Given the description of an element on the screen output the (x, y) to click on. 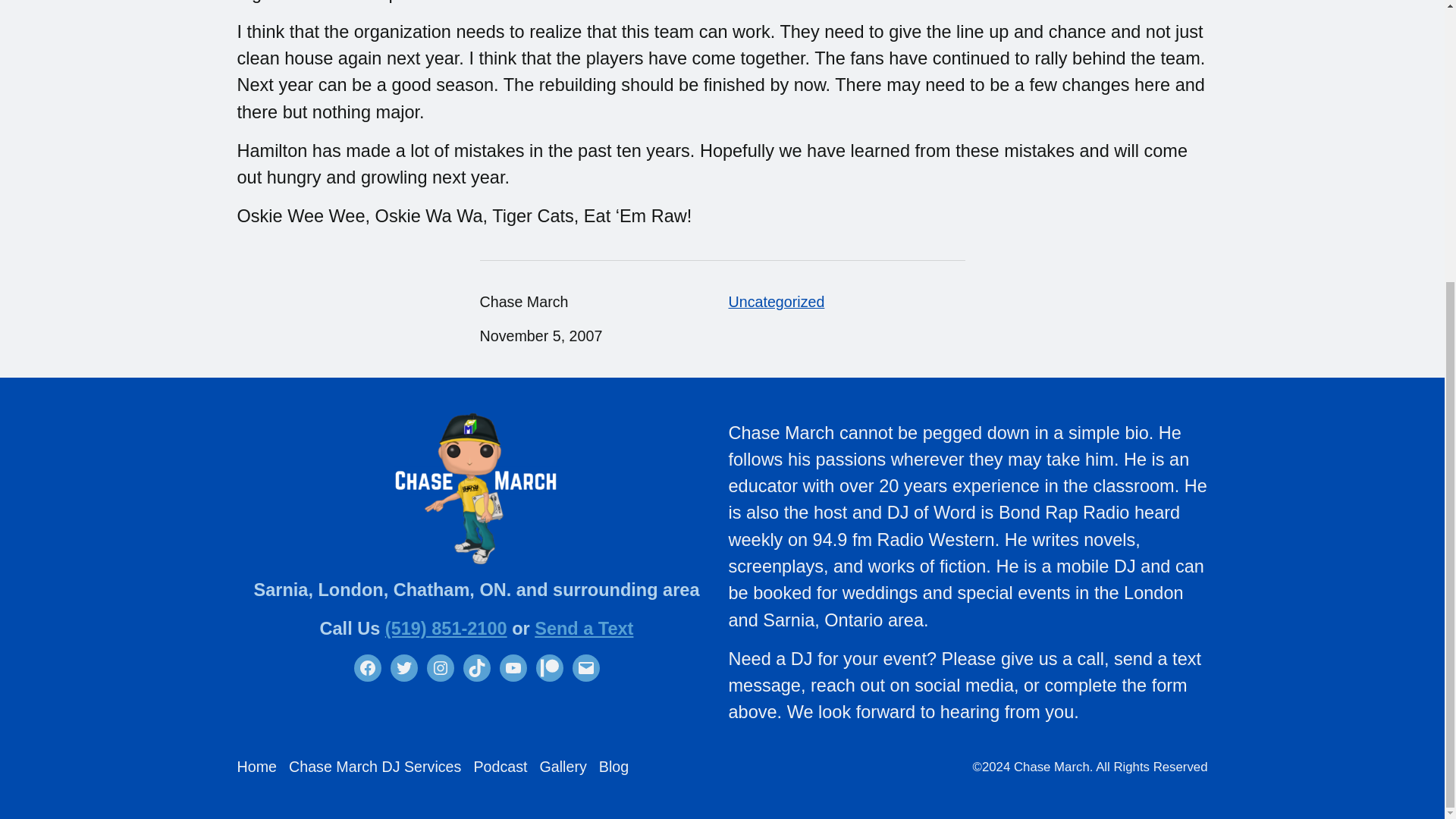
Facebook (366, 667)
Mail (585, 667)
Gallery (562, 766)
Twitter (403, 667)
Podcast (500, 766)
Instagram (439, 667)
Home (255, 766)
Blog (613, 766)
Chase March DJ Services (374, 766)
Patreon (548, 667)
Send a Text (583, 628)
YouTube (512, 667)
TikTok (476, 667)
Uncategorized (776, 301)
